Given the description of an element on the screen output the (x, y) to click on. 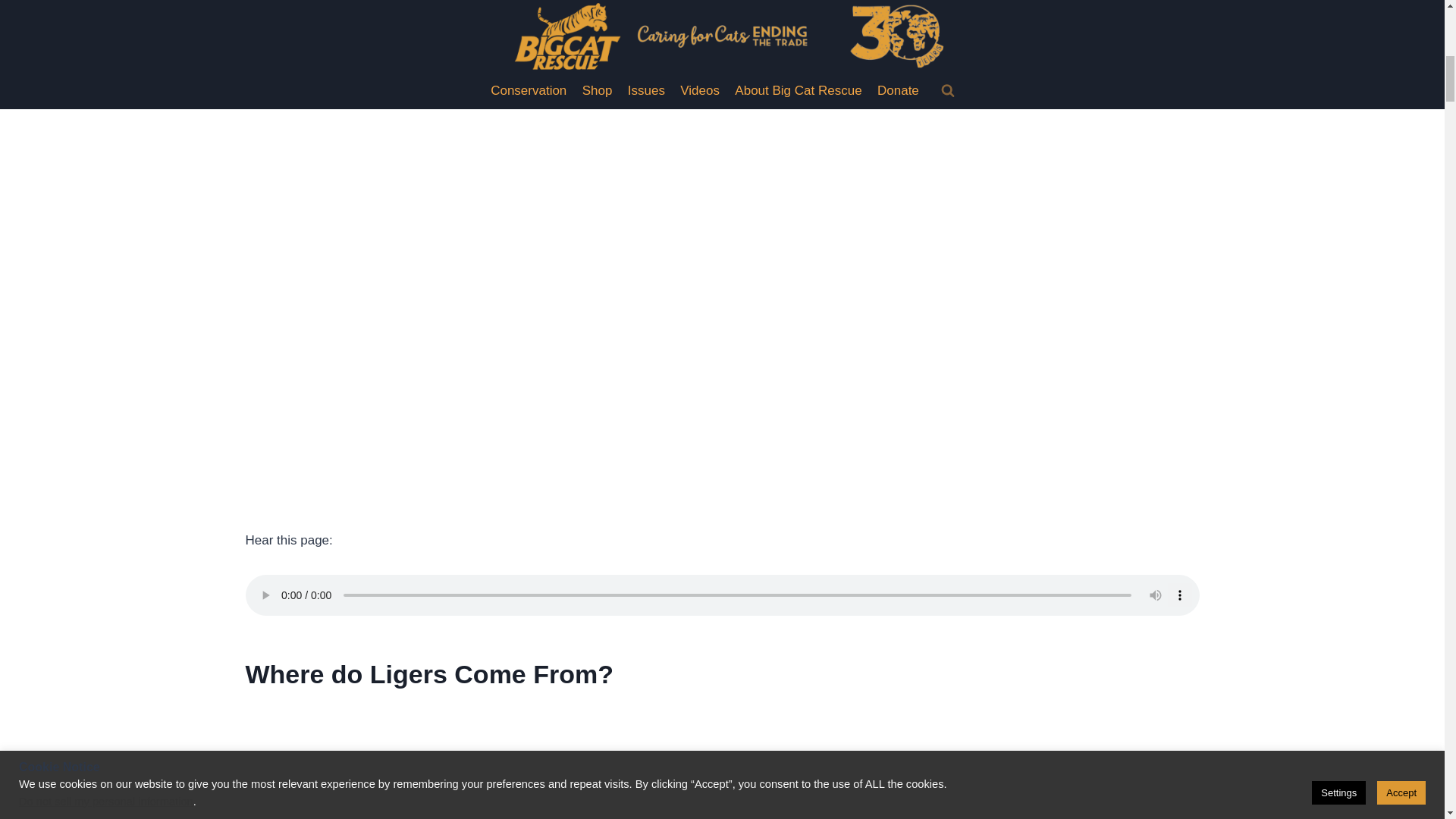
LIGERS - They do exist! (519, 760)
